Given the description of an element on the screen output the (x, y) to click on. 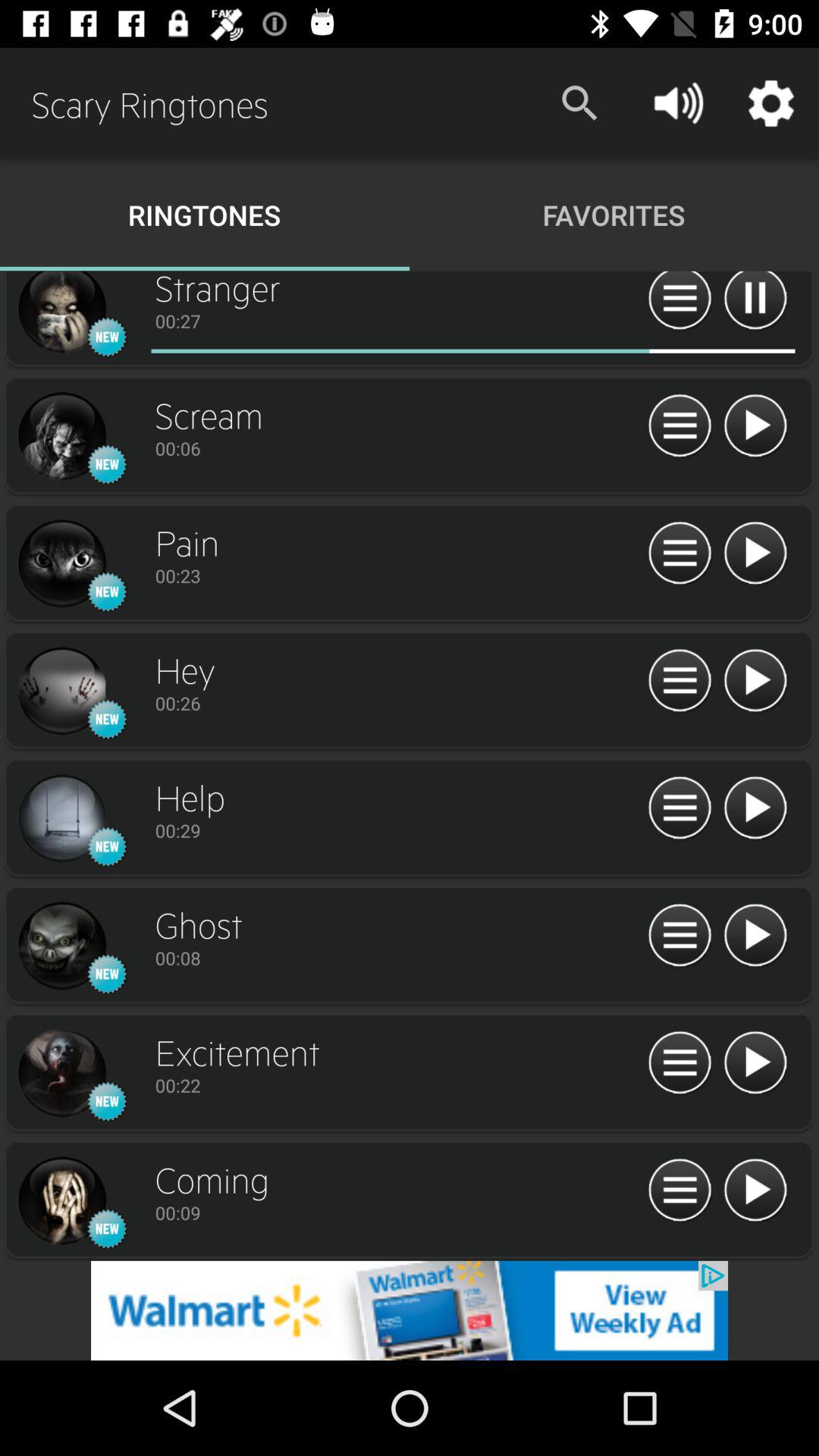
profile picture (61, 1073)
